Given the description of an element on the screen output the (x, y) to click on. 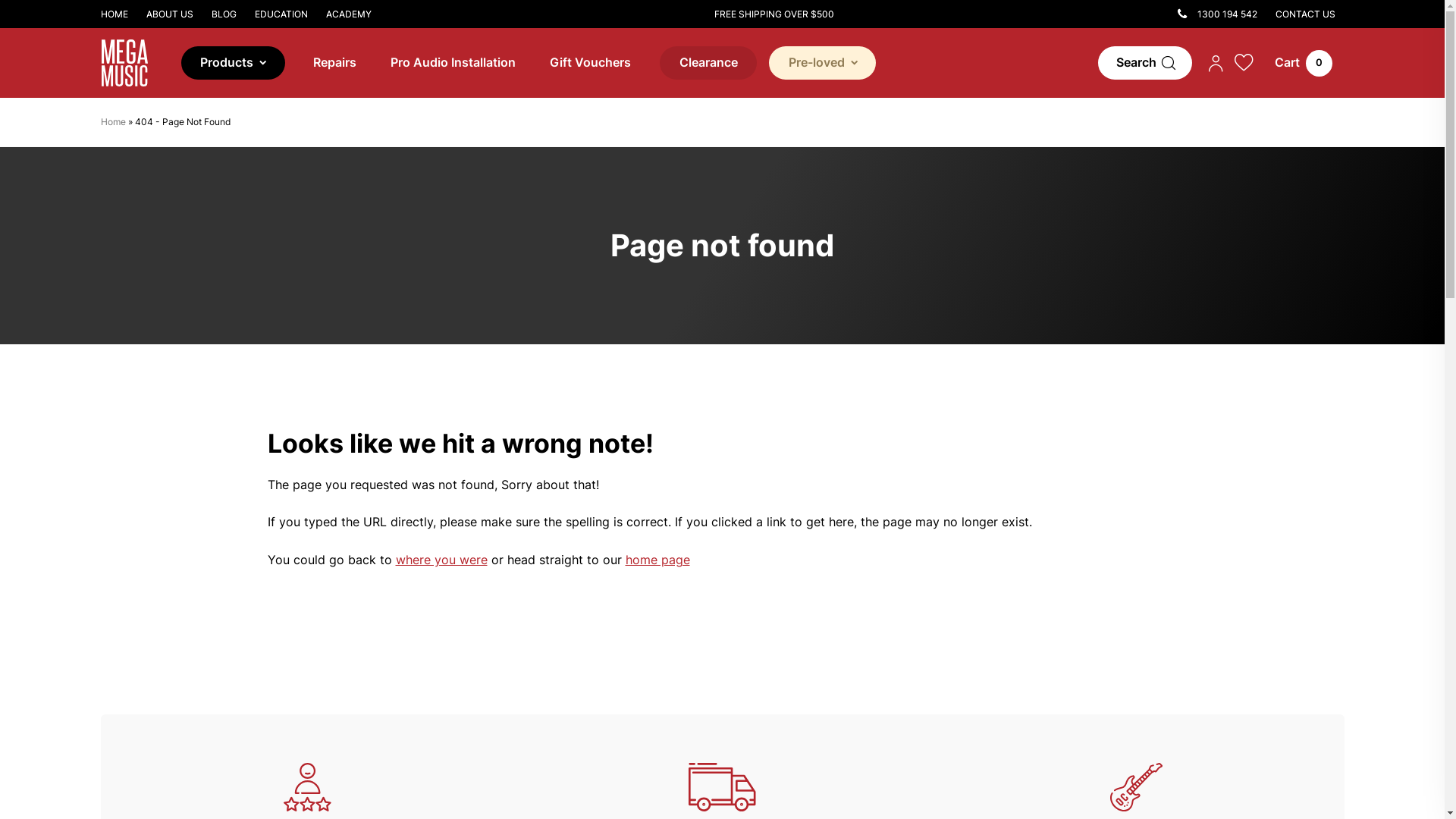
Repairs Element type: text (334, 62)
Pre-loved Element type: text (821, 63)
Clearance Element type: text (707, 63)
Search Element type: text (1145, 63)
home page Element type: text (656, 559)
where you were Element type: text (441, 559)
EDUCATION Element type: text (280, 14)
CONTACT US Element type: text (1305, 14)
ABOUT US Element type: text (168, 14)
Gift Vouchers Element type: text (589, 62)
BLOG Element type: text (222, 14)
Submit Element type: text (155, 21)
0 Element type: text (1302, 63)
Home Element type: text (112, 121)
FREE SHIPPING OVER $500 Element type: text (774, 14)
HOME Element type: text (118, 14)
Pro Audio Installation Element type: text (452, 62)
1300 194 542 Element type: text (1217, 14)
ACADEMY Element type: text (348, 14)
Products Element type: text (233, 63)
User account Element type: hover (1216, 62)
